Given the description of an element on the screen output the (x, y) to click on. 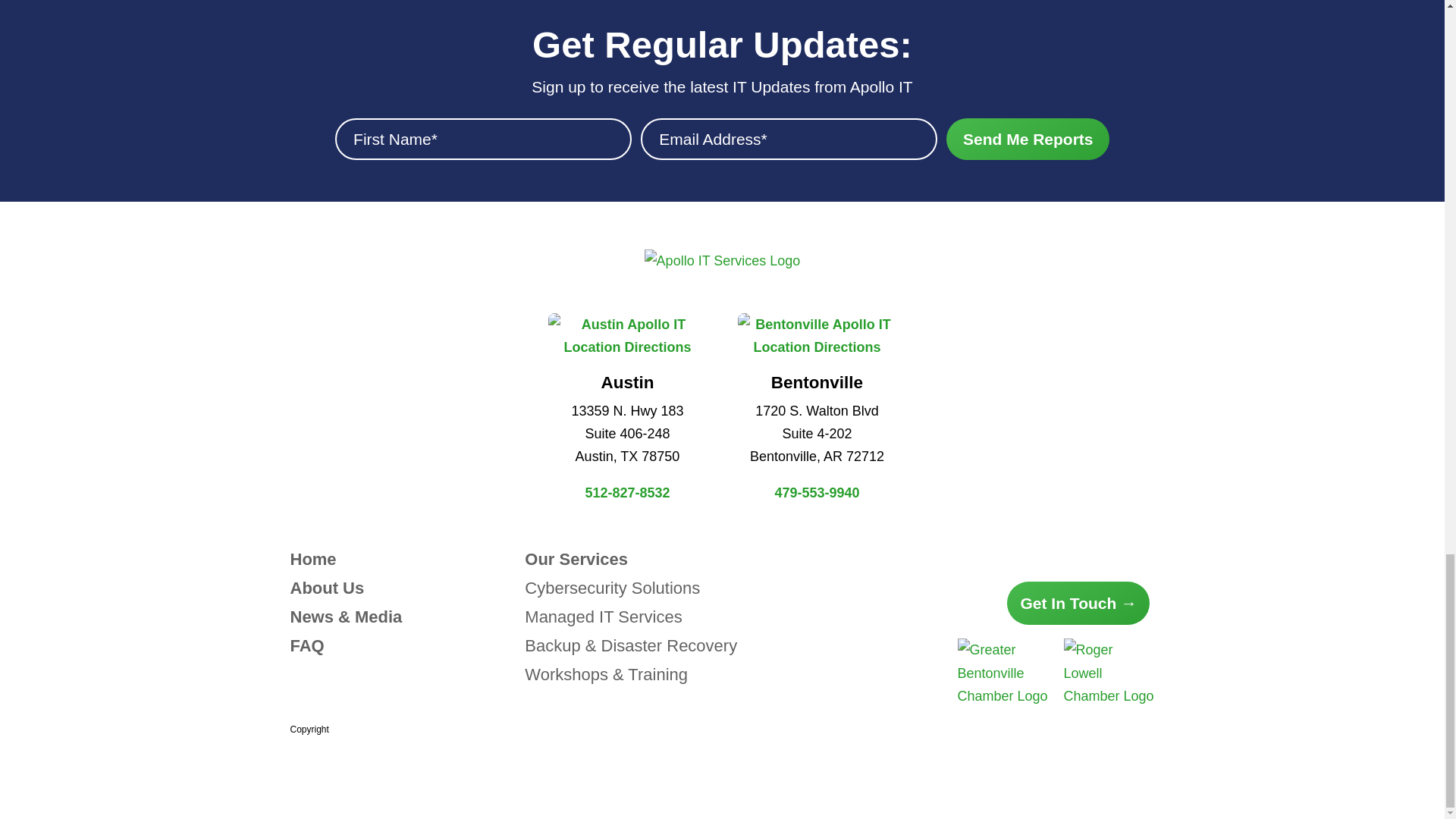
About Us (326, 587)
Cybersecurity Solutions (612, 587)
Our Services (575, 558)
Our Services (575, 558)
479-553-9940 (816, 492)
Cybersecurity Solutions (612, 587)
Home (312, 558)
512-827-8532 (627, 492)
FAQ (306, 645)
Managed IT Services (602, 616)
Send Me Reports (1027, 138)
FAQ (306, 645)
About Us (326, 587)
Home (312, 558)
Managed IT Services (602, 616)
